Given the description of an element on the screen output the (x, y) to click on. 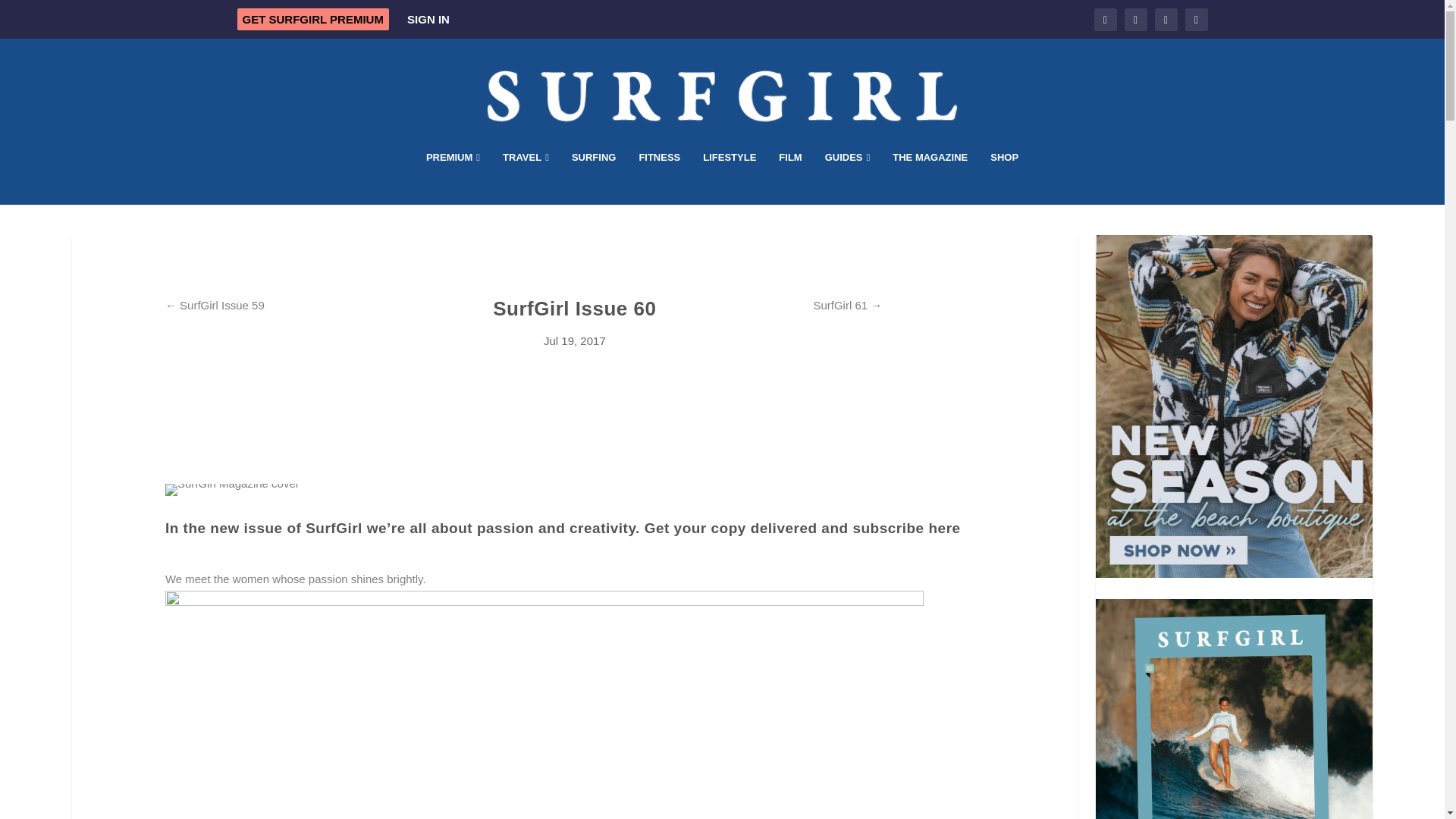
SurfGirl Magazine cover (232, 482)
LIFESTYLE (729, 177)
SIGN IN (428, 19)
PREMIUM (453, 177)
GET SURFGIRL PREMIUM (311, 19)
